Given the description of an element on the screen output the (x, y) to click on. 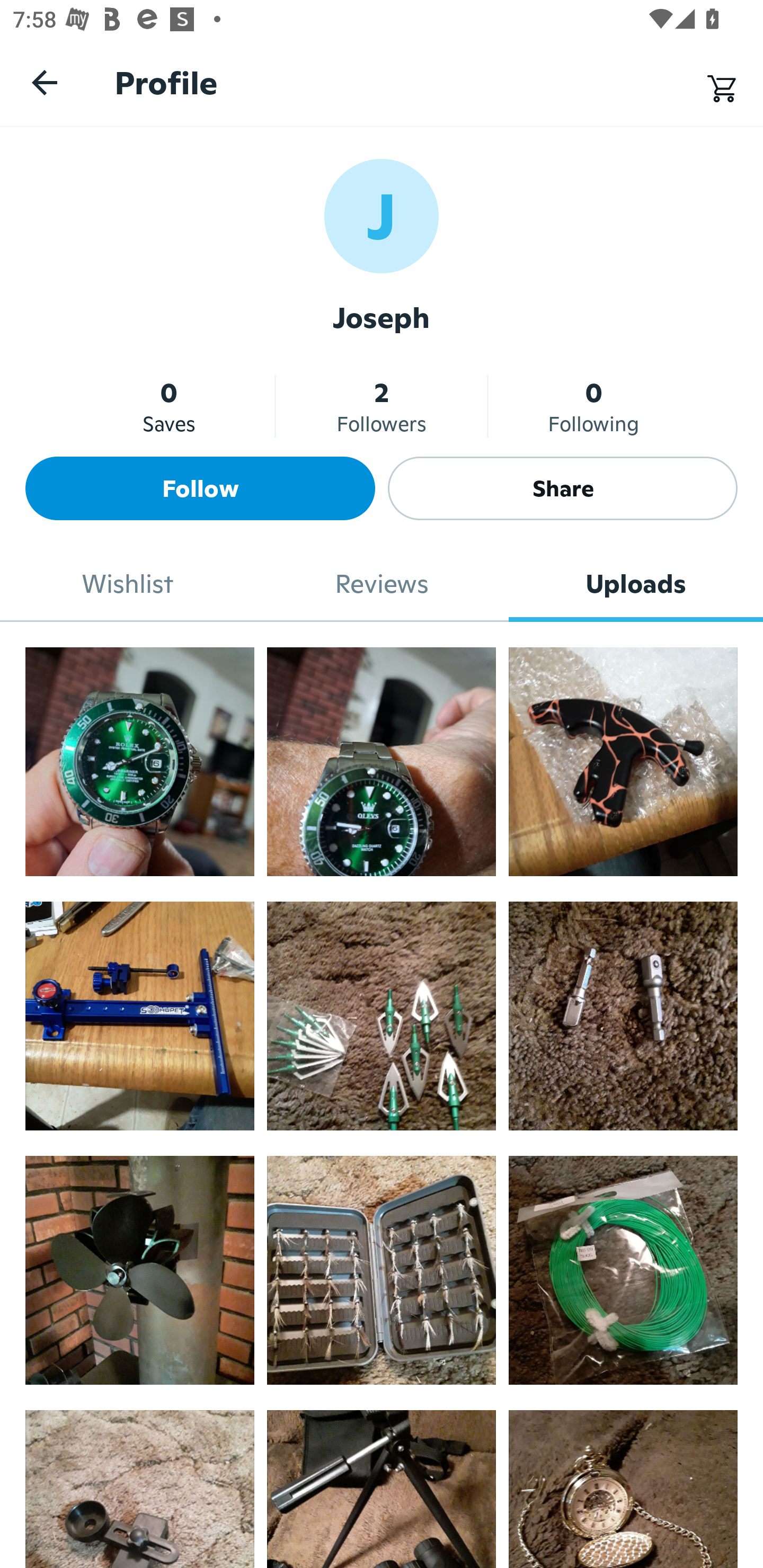
Navigate up (44, 82)
J (381, 215)
2 Followers (381, 405)
0 Following (593, 405)
Follow (200, 488)
Share (562, 488)
Wishlist (127, 583)
Reviews (381, 583)
Uploads (635, 583)
